Given the description of an element on the screen output the (x, y) to click on. 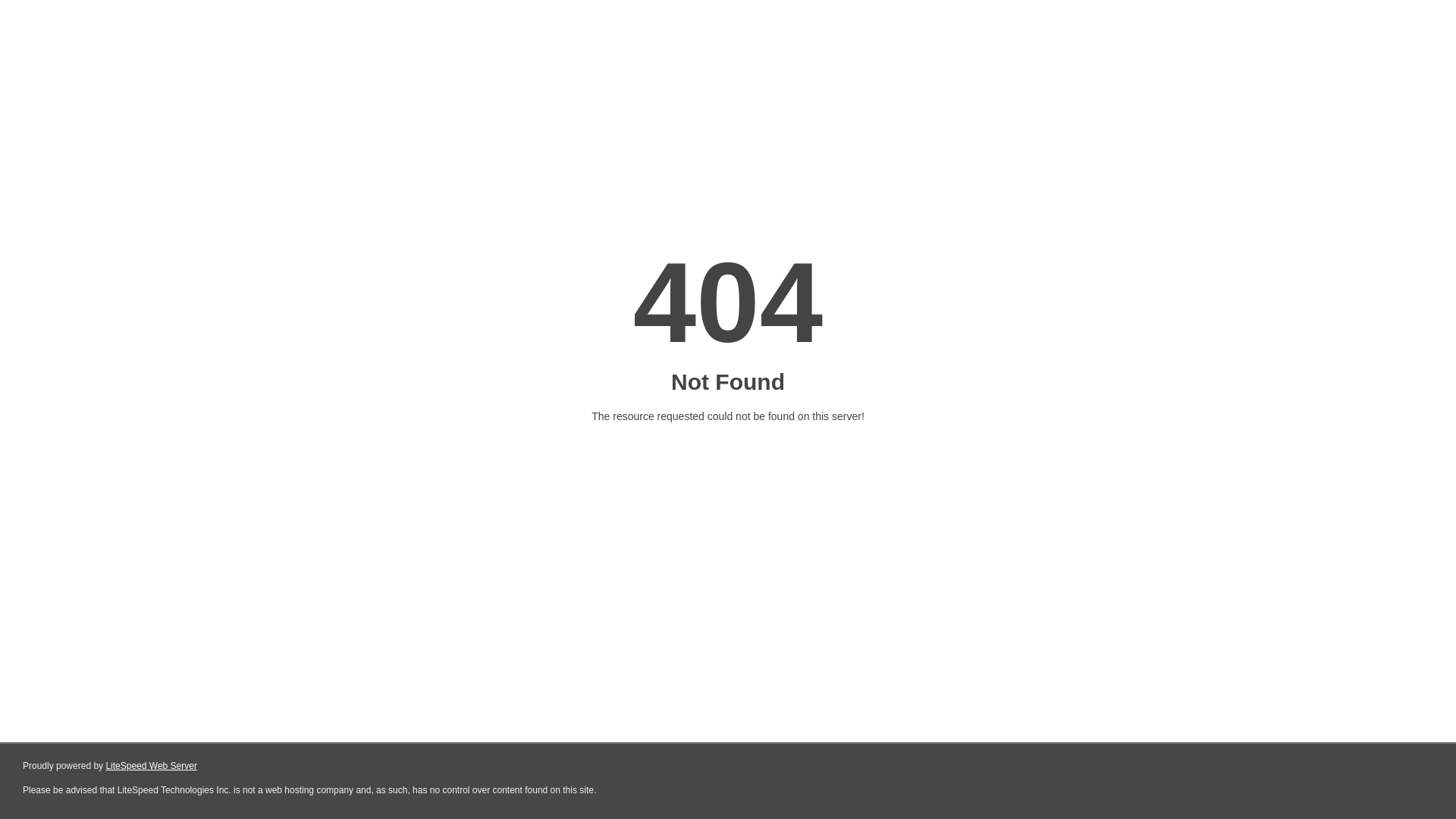
LiteSpeed Web Server Element type: text (151, 765)
